Given the description of an element on the screen output the (x, y) to click on. 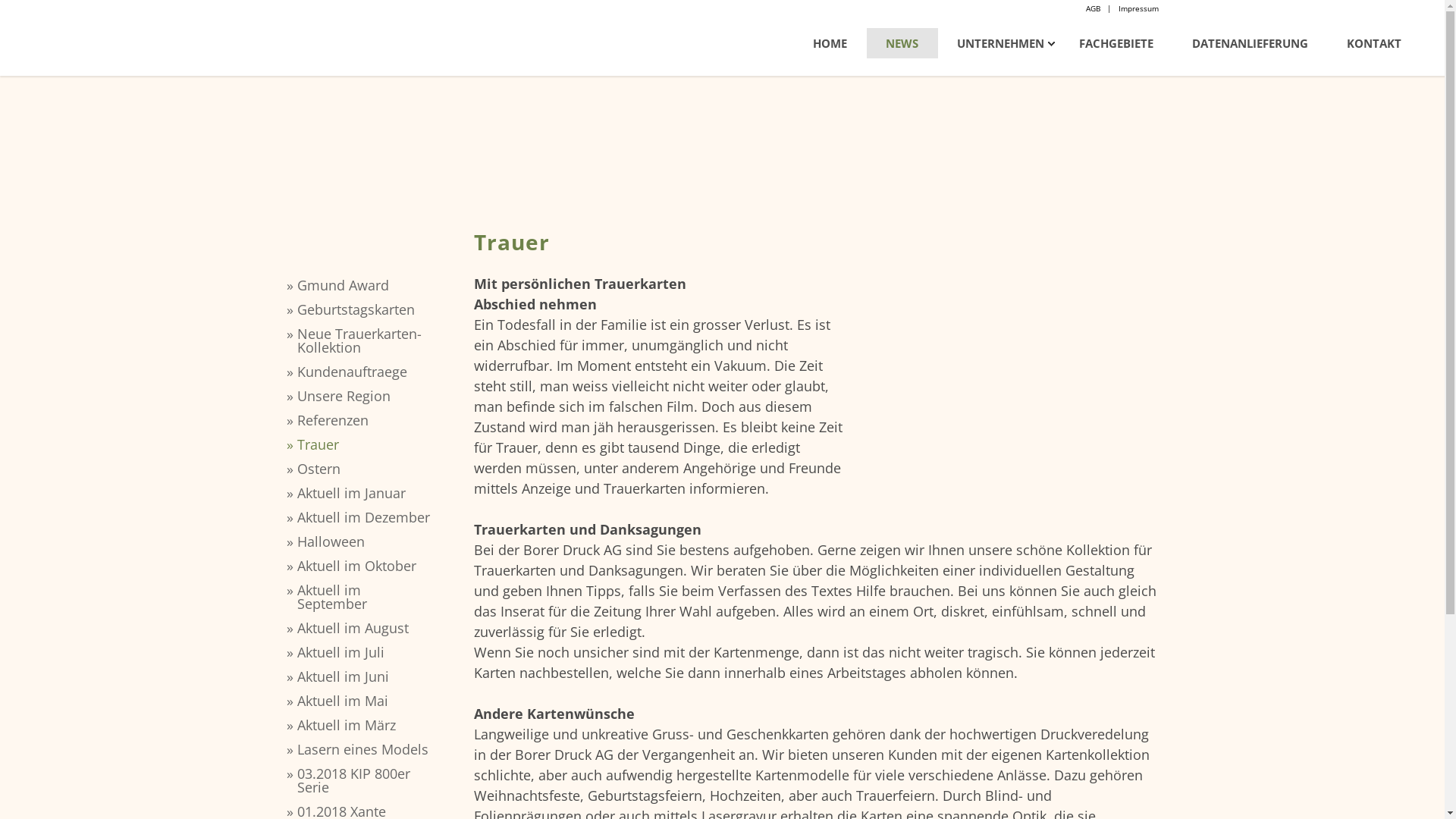
Aktuell im Juni Element type: text (365, 676)
NEWS Element type: text (901, 42)
Aktuell im Juli Element type: text (365, 651)
KONTAKT Element type: text (1373, 42)
Aktuell im Dezember Element type: text (365, 517)
Kundenauftraege Element type: text (365, 371)
Aktuell im August Element type: text (365, 627)
Aktuell im September Element type: text (365, 596)
Neue Trauerkarten-Kollektion Element type: text (365, 340)
Lasern eines Models Element type: text (365, 749)
Aktuell im Mai Element type: text (365, 700)
Aktuell im Oktober Element type: text (365, 565)
Ostern Element type: text (365, 468)
Halloween Element type: text (365, 541)
Impressum Element type: text (1137, 8)
Gmund Award Element type: text (365, 284)
Aktuell im Januar Element type: text (365, 492)
HOME Element type: text (829, 42)
DATENANLIEFERUNG Element type: text (1250, 42)
FACHGEBIETE Element type: text (1115, 42)
03.2018 KIP 800er Serie Element type: text (365, 779)
Unsere Region Element type: text (365, 395)
Referenzen Element type: text (365, 419)
UNTERNEHMEN Element type: text (1000, 42)
Geburtstagskarten Element type: text (365, 309)
Trauer Element type: text (365, 444)
AGB Element type: text (1092, 8)
